Given the description of an element on the screen output the (x, y) to click on. 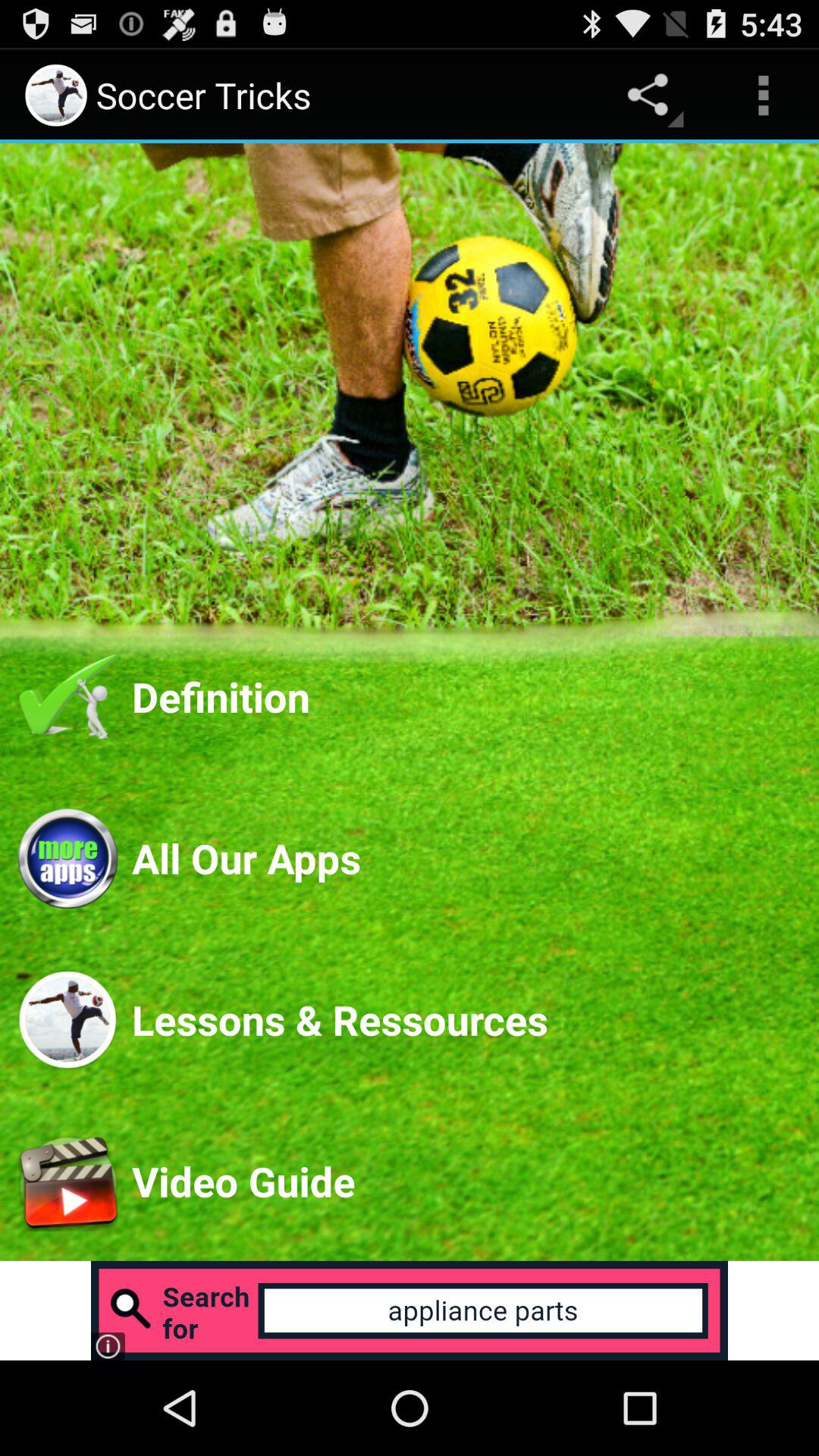
click video guide app (465, 1180)
